Given the description of an element on the screen output the (x, y) to click on. 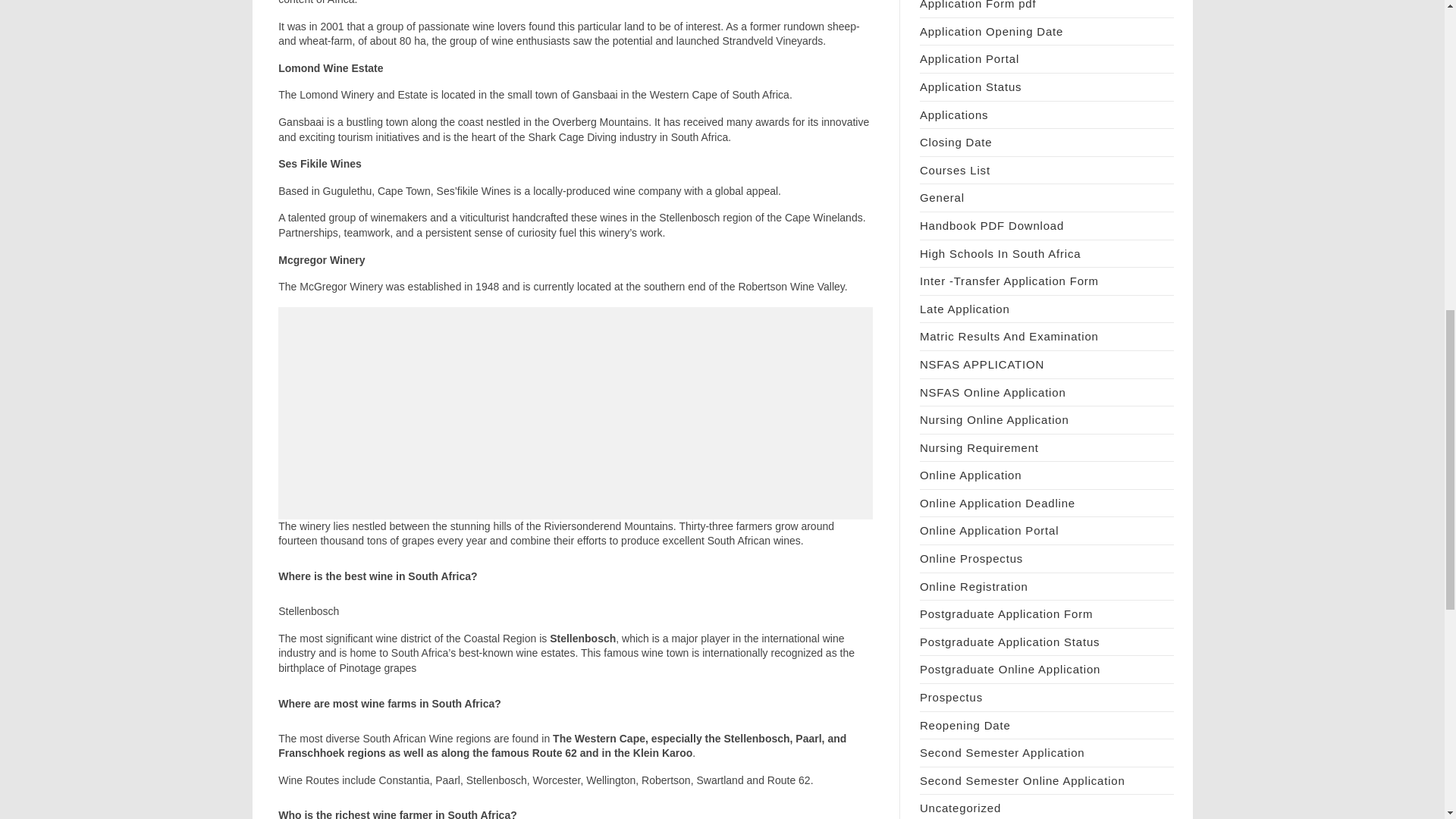
Online Application Deadline (997, 502)
Courses List (955, 169)
Application Portal (969, 58)
Application Form pdf (978, 4)
Online Prospectus (971, 558)
Late Application (965, 308)
NSFAS APPLICATION (981, 364)
Inter -Transfer Application Form (1009, 280)
Applications (954, 114)
Online Application Portal (989, 530)
